Given the description of an element on the screen output the (x, y) to click on. 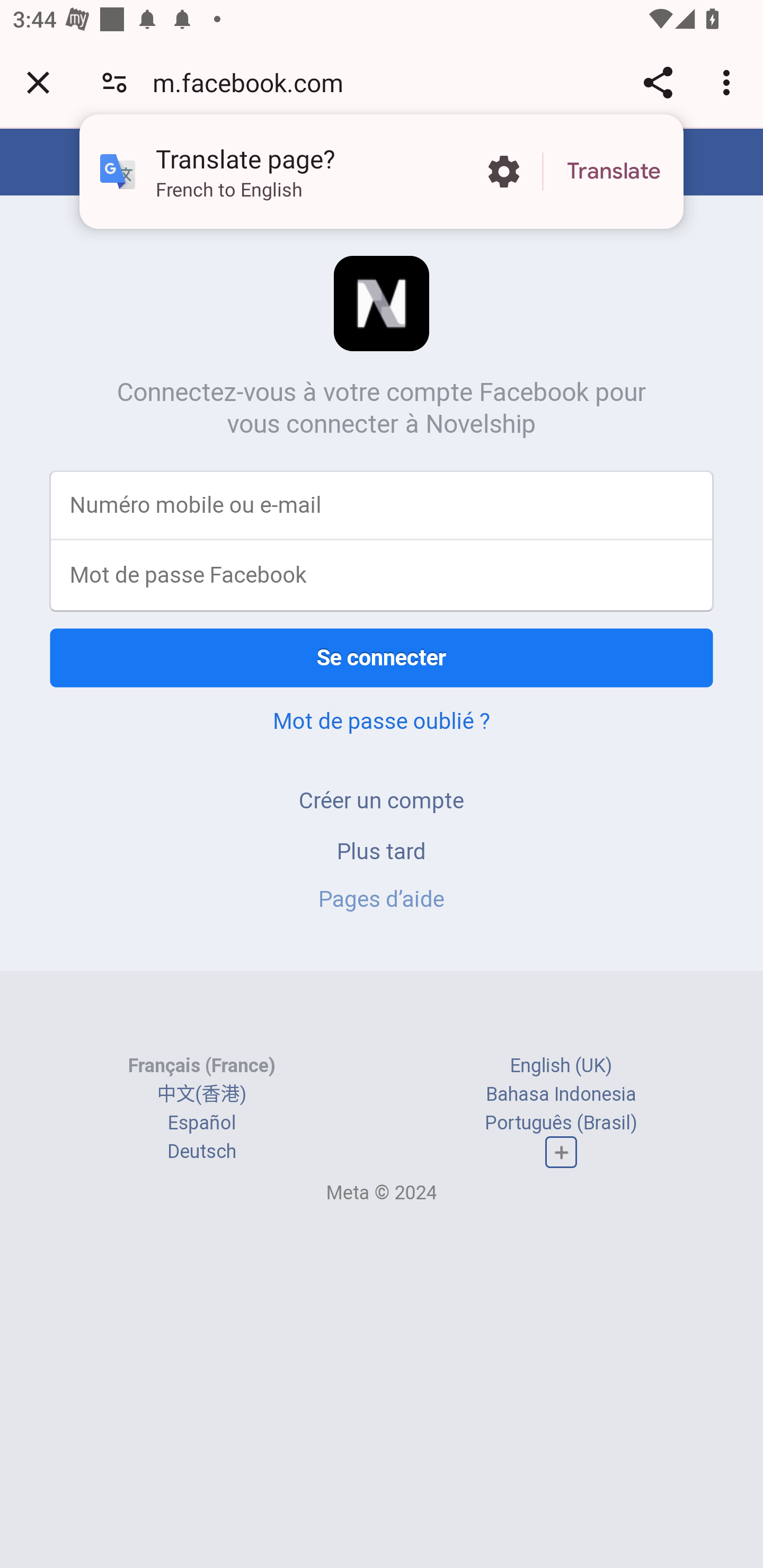
Close tab (38, 82)
Share (657, 82)
Customize and control Google Chrome (729, 82)
Connection is secure (114, 81)
m.facebook.com (254, 81)
Translate (613, 171)
More options in the Translate page? (503, 171)
Se connecter (381, 657)
Mot de passe oublié ? (381, 720)
Créer un compte (381, 800)
Plus tard (381, 850)
Pages d’aide (381, 898)
English (UK) (560, 1065)
中文(香港) (201, 1093)
Bahasa Indonesia (560, 1093)
Español (201, 1122)
Português (Brasil) (560, 1122)
Liste complète des langues (560, 1152)
Deutsch (201, 1151)
